Given the description of an element on the screen output the (x, y) to click on. 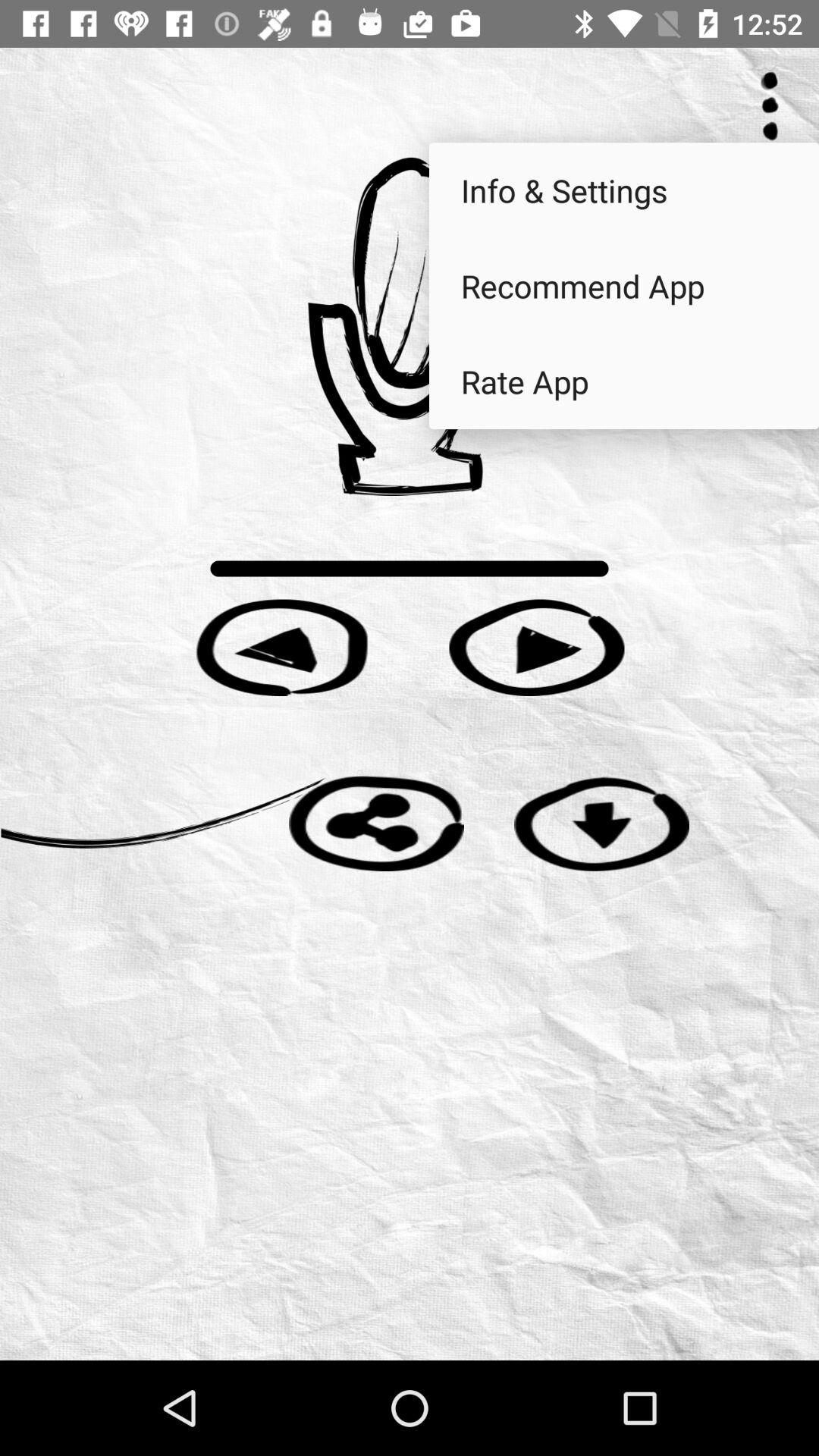
share (376, 823)
